Given the description of an element on the screen output the (x, y) to click on. 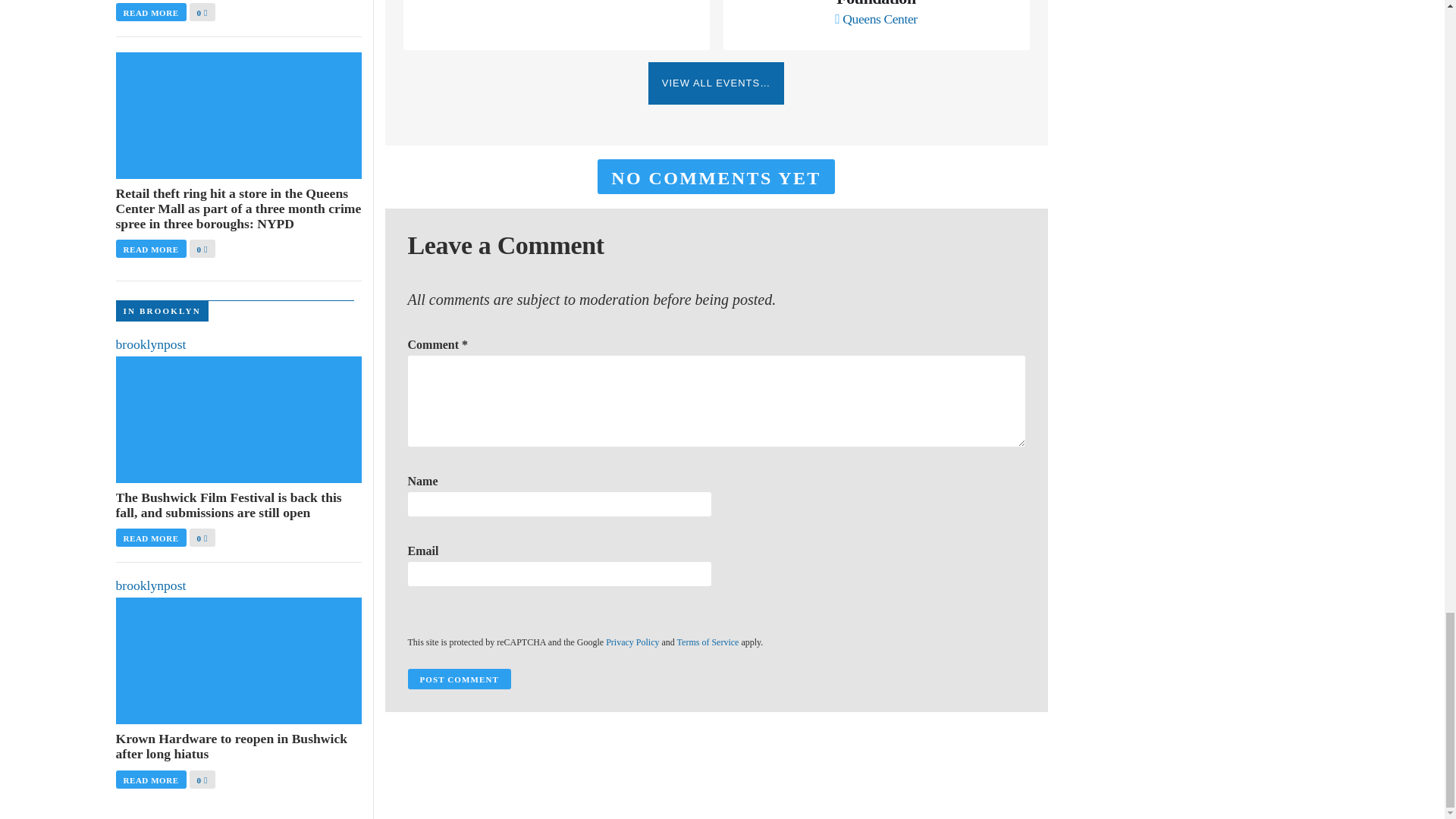
Post Comment (459, 679)
